Given the description of an element on the screen output the (x, y) to click on. 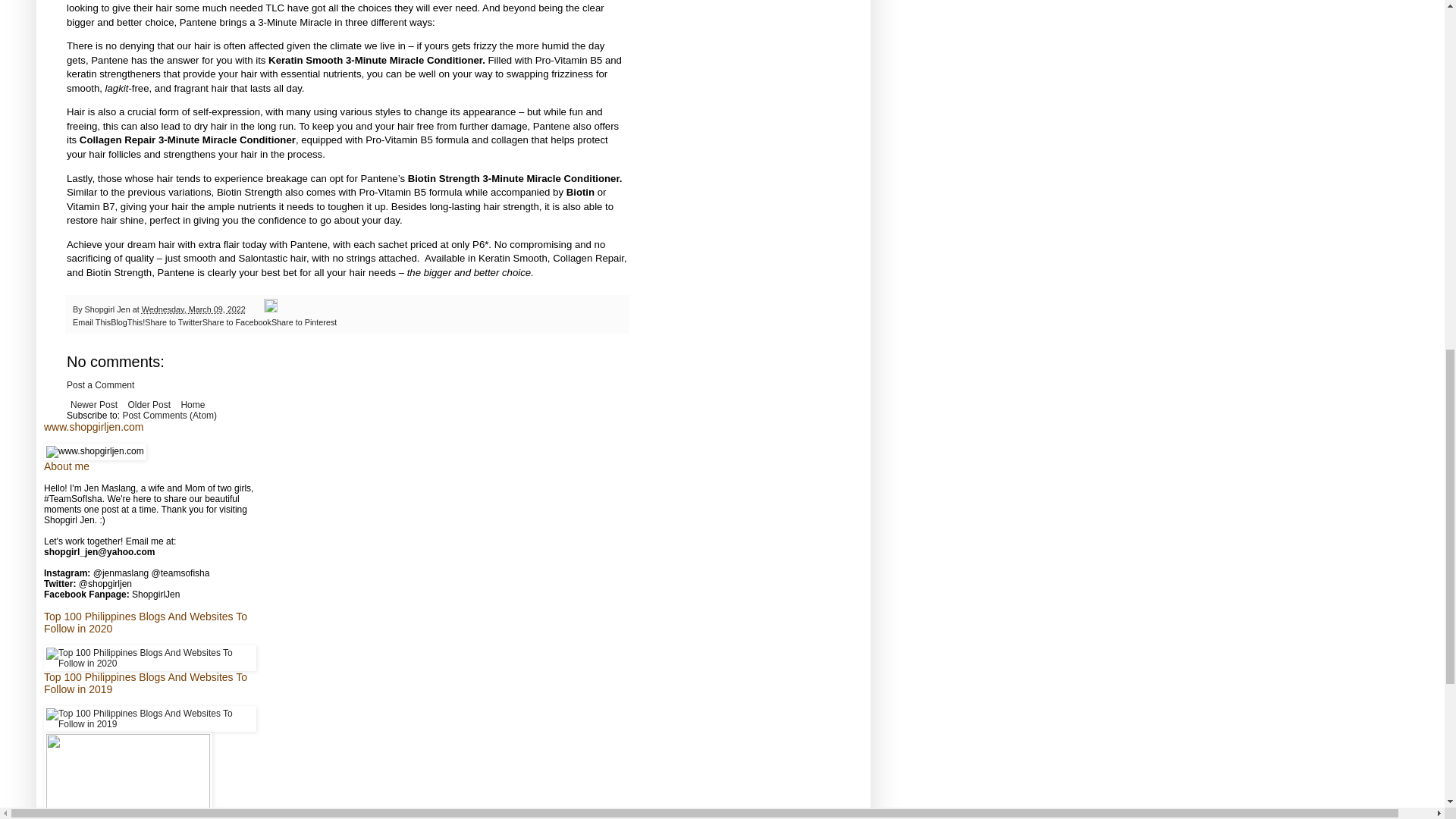
Share to Facebook (236, 321)
Edit Post (270, 308)
Share to Pinterest (303, 321)
Wednesday, March 09, 2022 (193, 308)
BlogThis! (127, 321)
Email This (91, 321)
Home (192, 404)
Email This (91, 321)
Email Post (255, 308)
Older Post (148, 404)
BlogThis! (127, 321)
Share to Twitter (173, 321)
permanent link (193, 308)
Newer Post (93, 404)
author profile (108, 308)
